Given the description of an element on the screen output the (x, y) to click on. 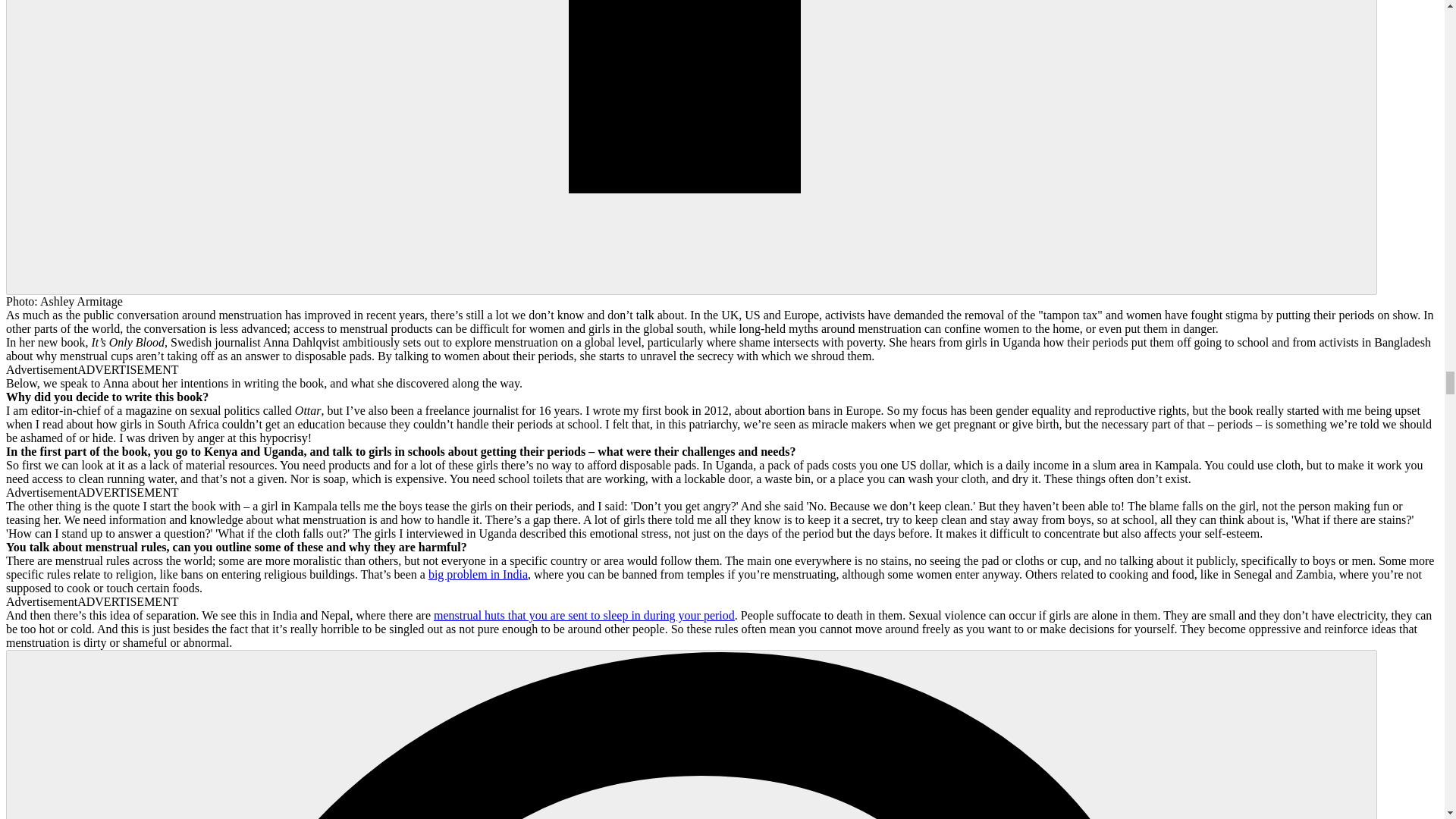
big problem in India (477, 574)
